Given the description of an element on the screen output the (x, y) to click on. 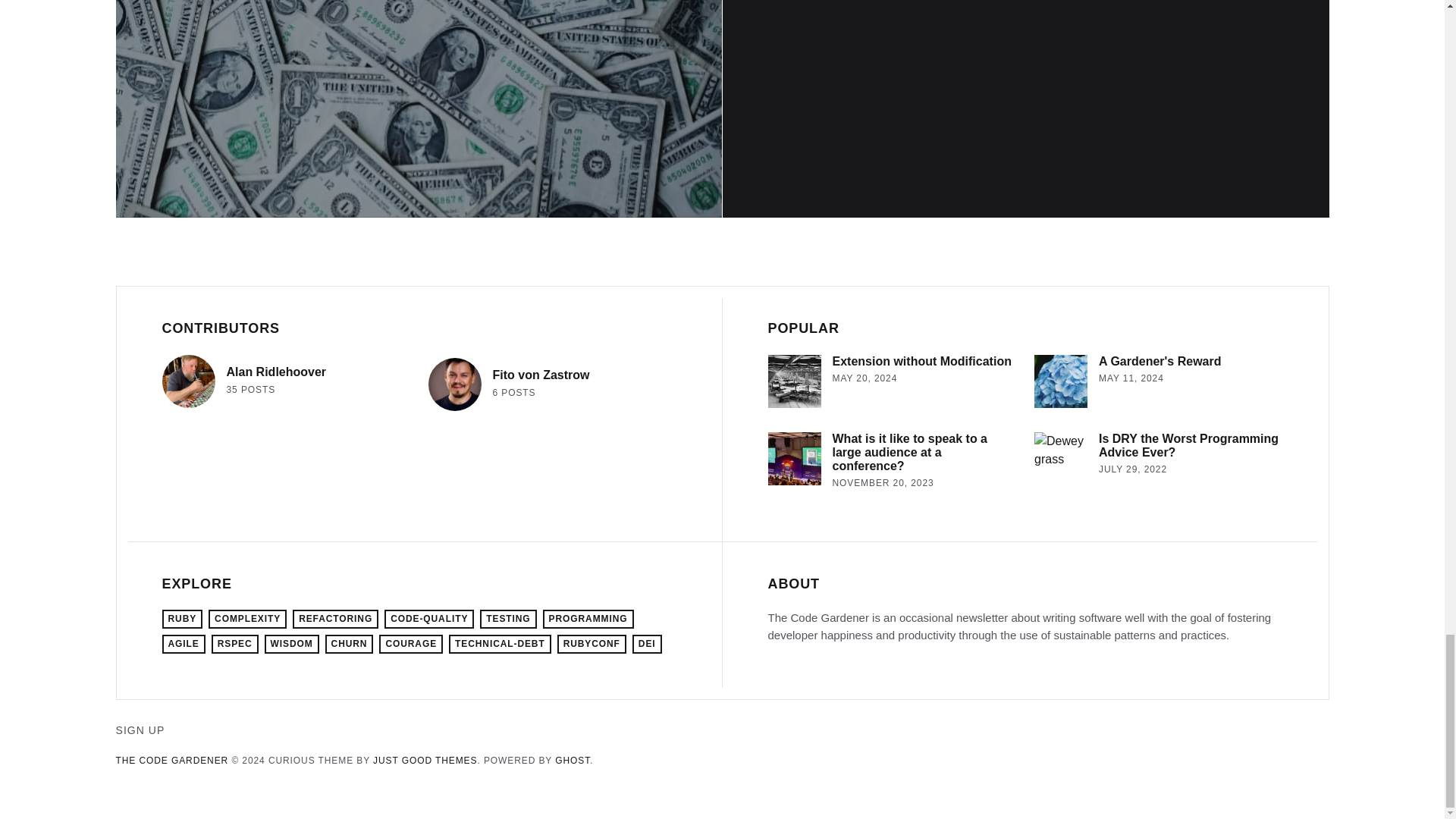
REFACTORING (335, 618)
CODE-QUALITY (429, 618)
RUBY (182, 618)
AGILE (1157, 464)
TESTING (243, 380)
